Given the description of an element on the screen output the (x, y) to click on. 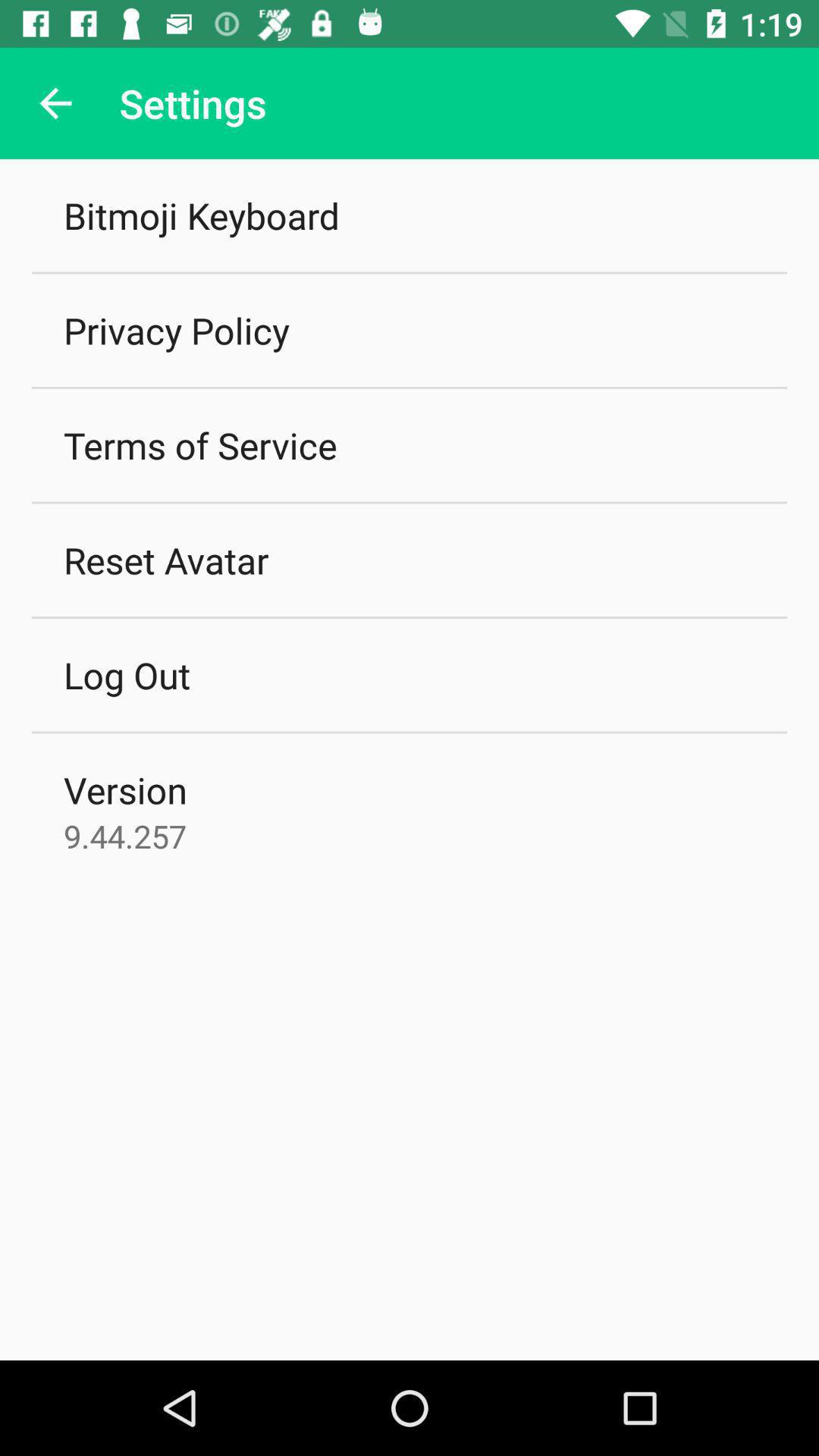
turn on log out item (126, 674)
